Given the description of an element on the screen output the (x, y) to click on. 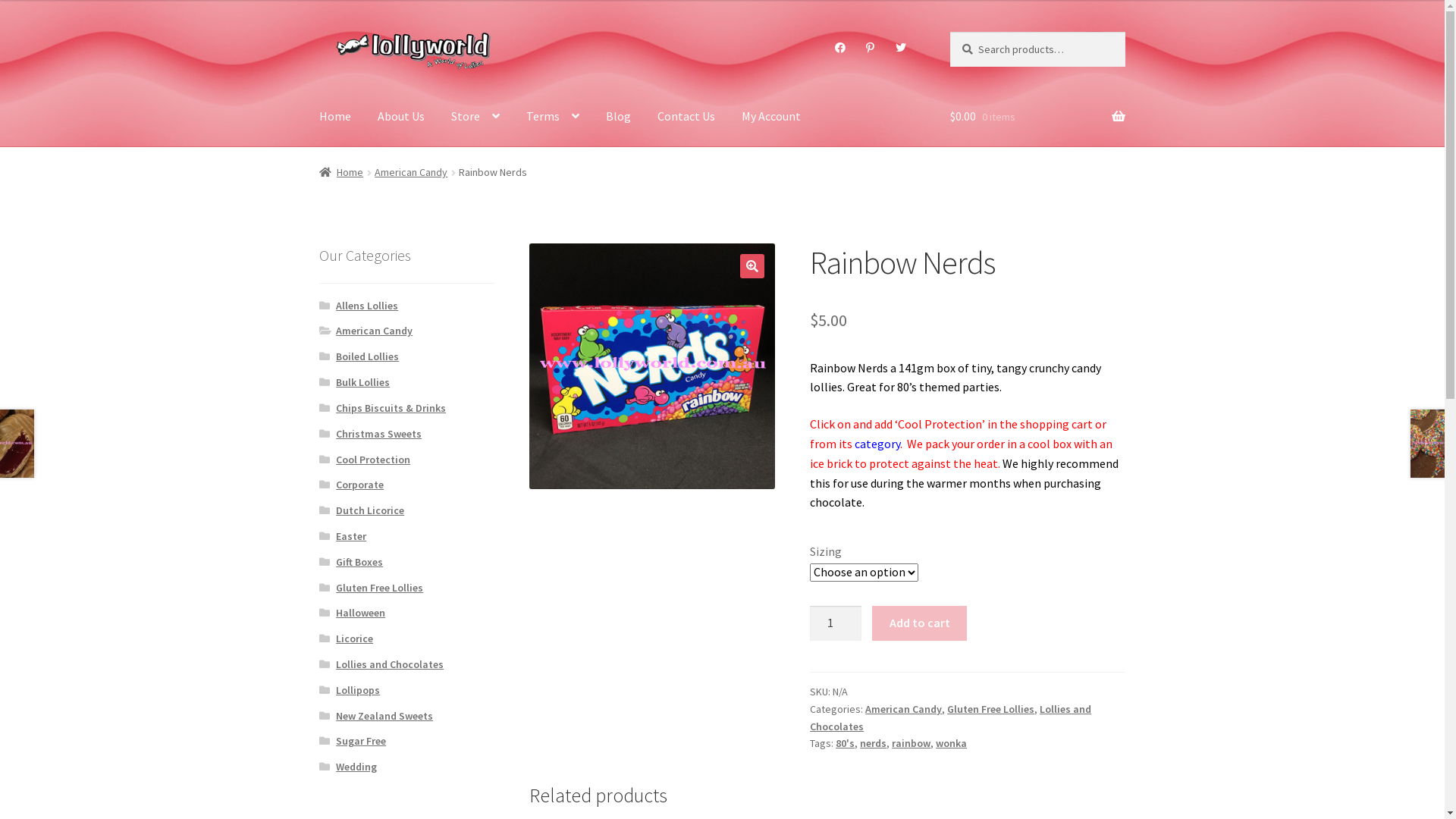
nerds Element type: text (872, 742)
Cool Protection Element type: text (372, 459)
Sugar Free Element type: text (360, 740)
American Candy Element type: text (410, 171)
Boiled Lollies Element type: text (366, 356)
Nerds-Rainbow Element type: hover (652, 366)
Store Element type: text (475, 116)
Home Element type: text (335, 116)
My Account Element type: text (770, 116)
American Candy Element type: text (903, 708)
Twitter Element type: text (900, 47)
Home Element type: text (341, 171)
Pinterest Element type: text (870, 47)
Lollies and Chocolates Element type: text (950, 717)
Easter Element type: text (350, 535)
Skip to navigation Element type: text (318, 31)
American Candy Element type: text (373, 330)
Dutch Licorice Element type: text (369, 510)
Gift Boxes Element type: text (358, 561)
New Zealand Sweets Element type: text (384, 715)
Allens Lollies Element type: text (366, 305)
Contact Us Element type: text (686, 116)
wonka Element type: text (950, 742)
About Us Element type: text (400, 116)
80's Element type: text (844, 742)
Gluten Free Lollies Element type: text (990, 708)
Facebook Element type: text (839, 47)
Wedding Element type: text (355, 766)
category Element type: text (877, 443)
Chips Biscuits & Drinks Element type: text (390, 407)
Bulk Lollies Element type: text (362, 382)
Corporate Element type: text (359, 484)
Search Element type: text (949, 31)
Gluten Free Lollies Element type: text (379, 587)
Licorice Element type: text (354, 638)
Christmas Sweets Element type: text (378, 433)
Halloween Element type: text (360, 612)
$0.00 0 items Element type: text (1037, 116)
Lollipops Element type: text (357, 689)
Lollies and Chocolates Element type: text (389, 664)
Terms Element type: text (552, 116)
Blog Element type: text (618, 116)
rainbow Element type: text (910, 742)
Add to cart Element type: text (919, 622)
